Given the description of an element on the screen output the (x, y) to click on. 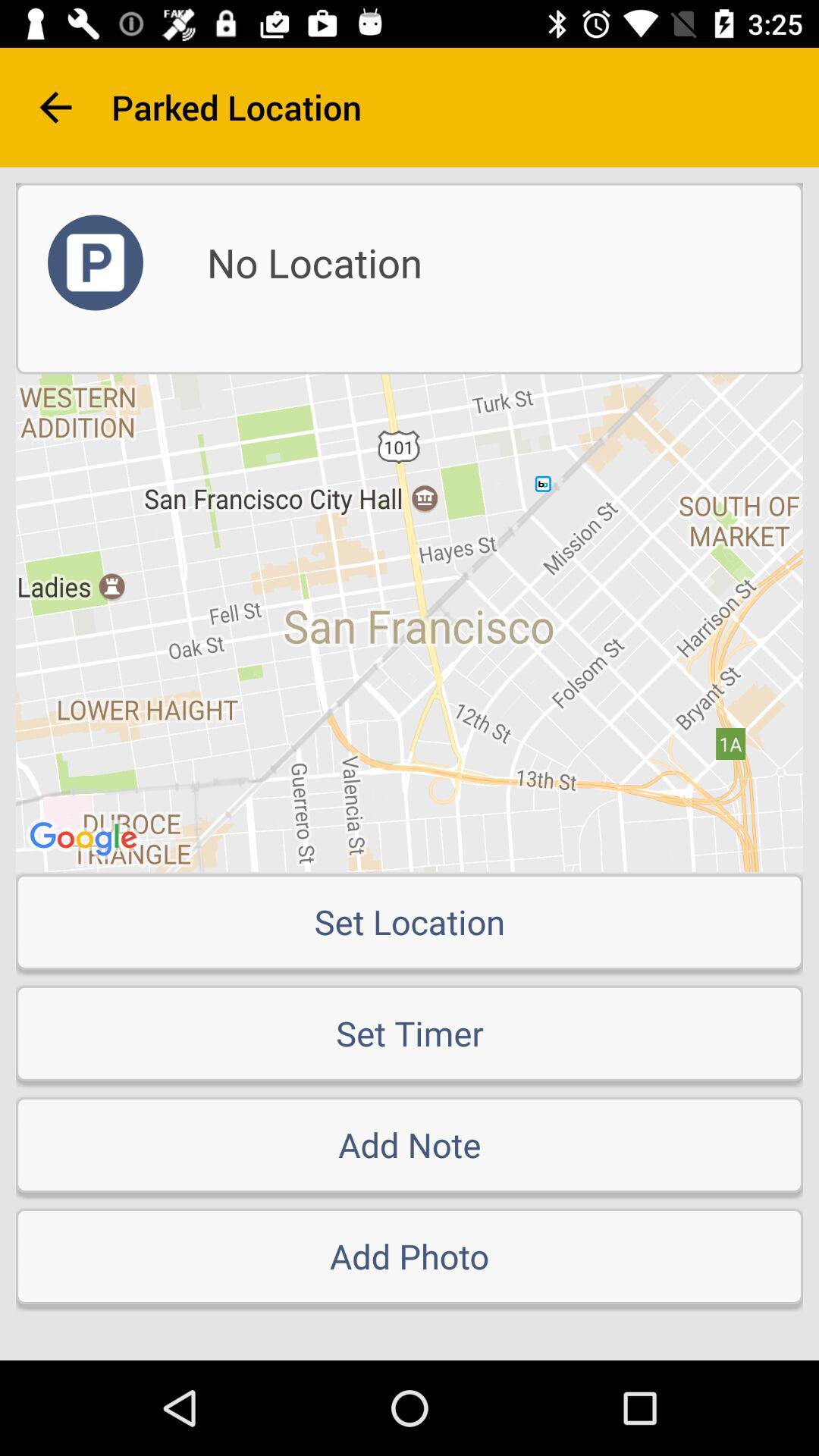
tap item above the set timer item (409, 921)
